Given the description of an element on the screen output the (x, y) to click on. 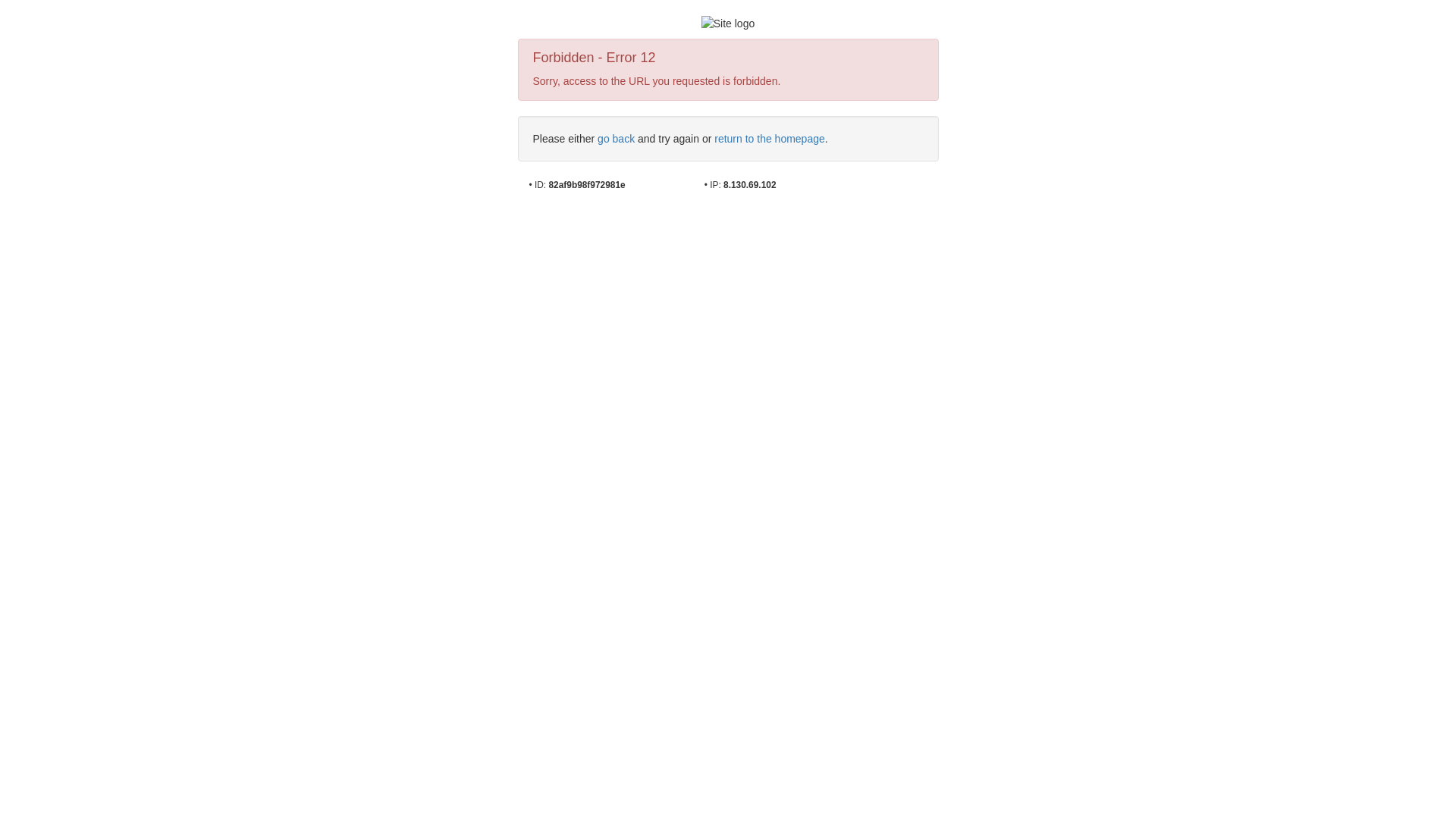
return to the homepage Element type: text (769, 138)
go back Element type: text (615, 138)
